Given the description of an element on the screen output the (x, y) to click on. 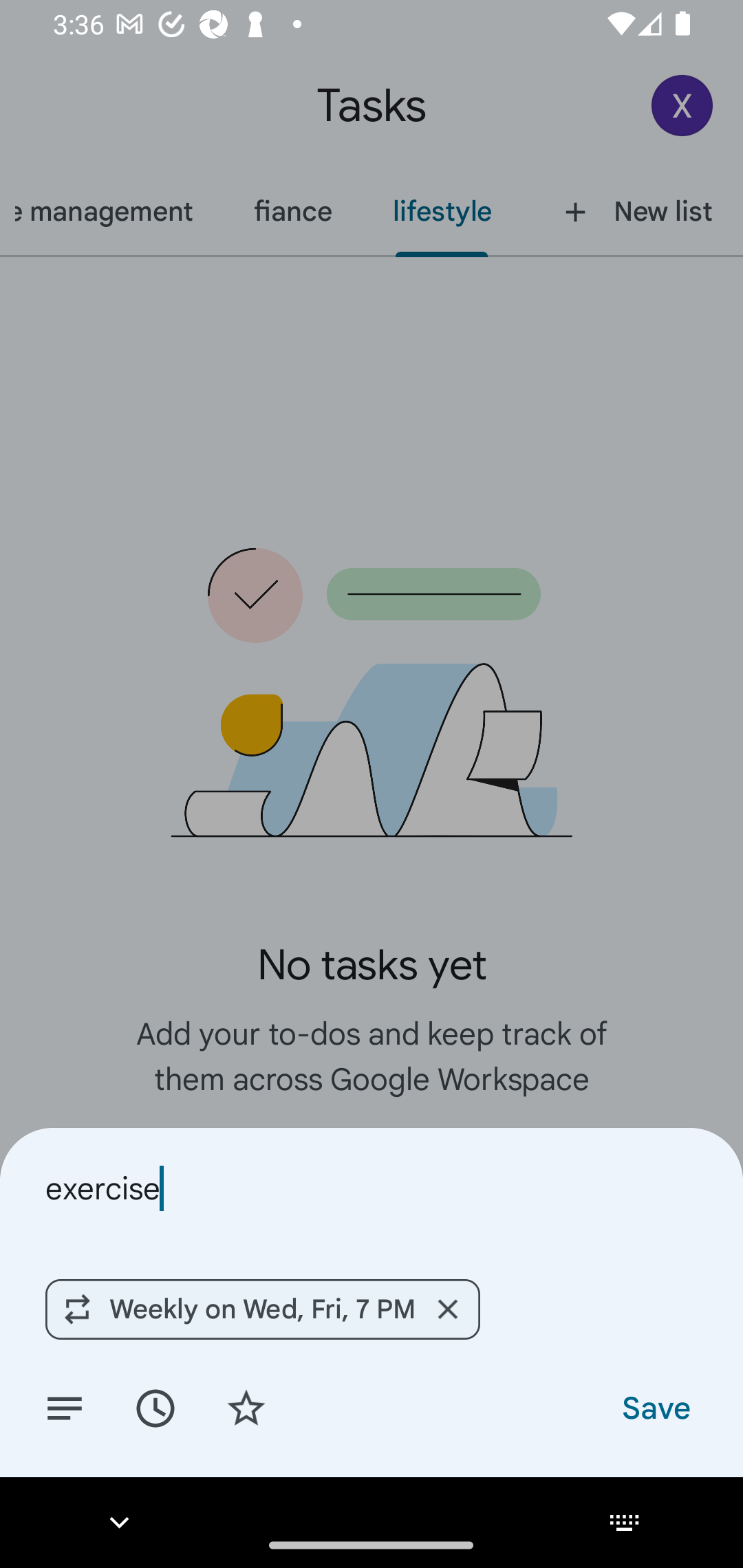
exercise (371, 1188)
Save (655, 1407)
Add details (64, 1407)
Set date/time (154, 1407)
Add star (245, 1407)
